Given the description of an element on the screen output the (x, y) to click on. 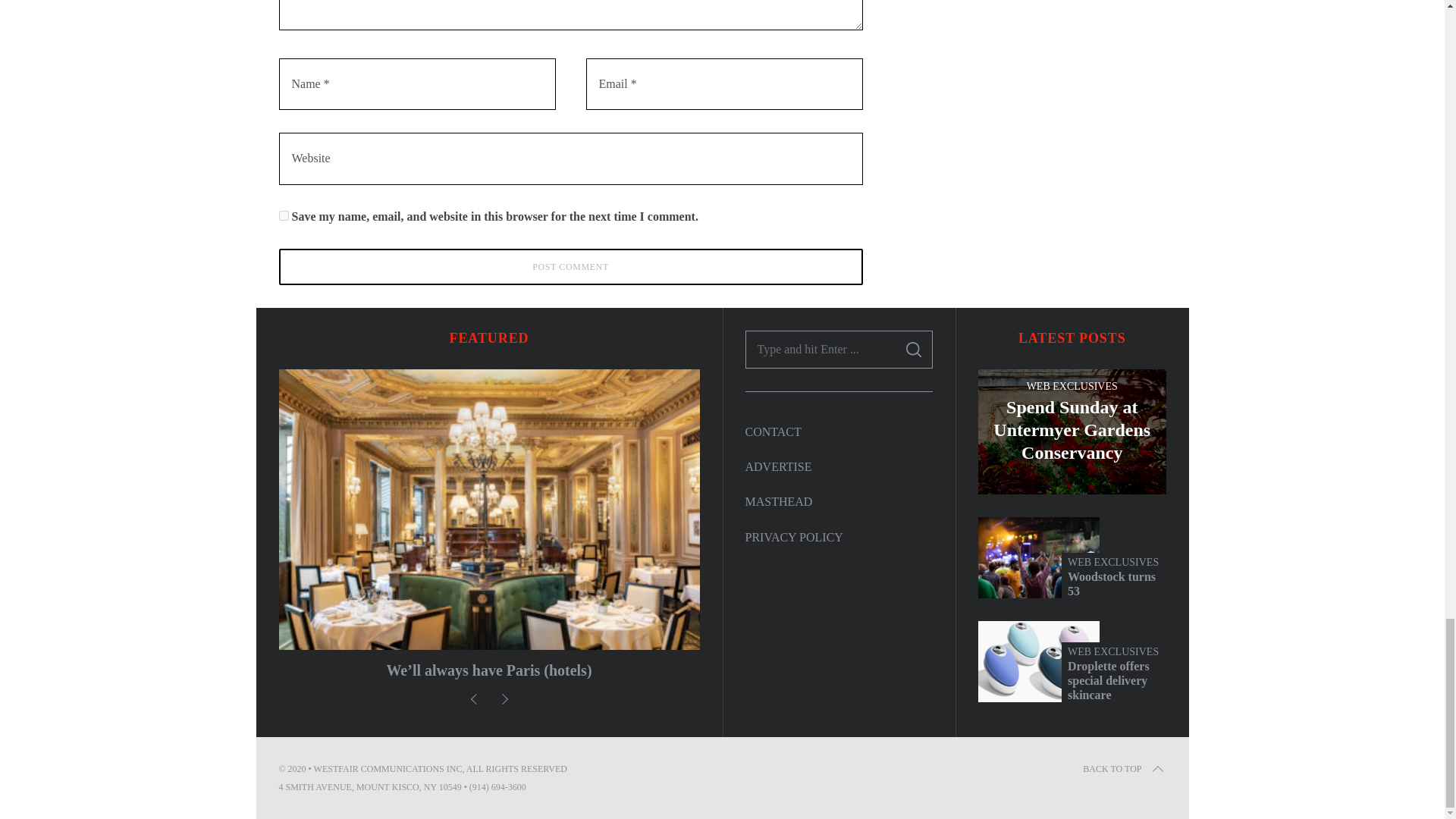
yes (283, 215)
Post Comment (571, 266)
